Given the description of an element on the screen output the (x, y) to click on. 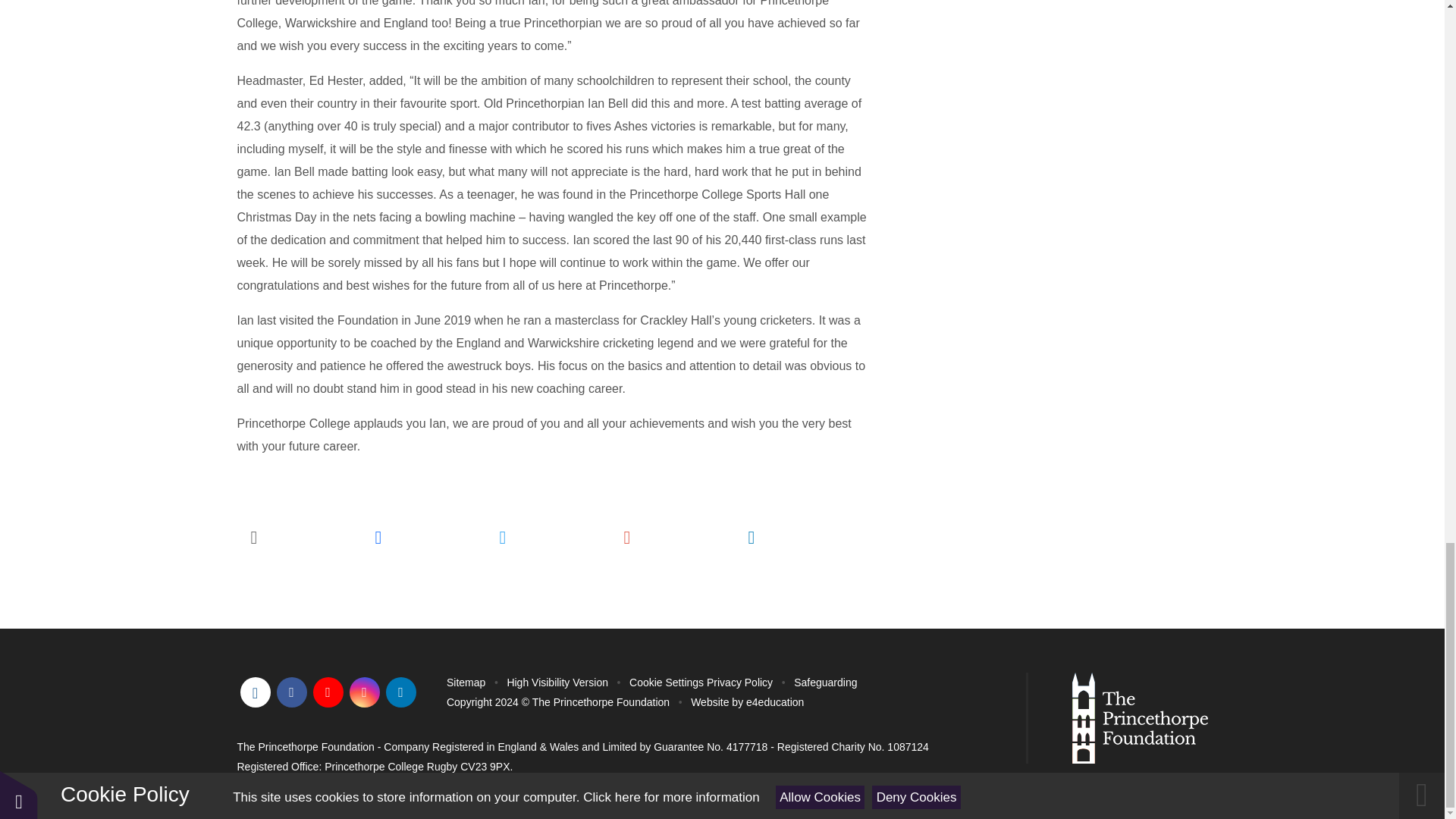
Cookie Settings (665, 682)
